Given the description of an element on the screen output the (x, y) to click on. 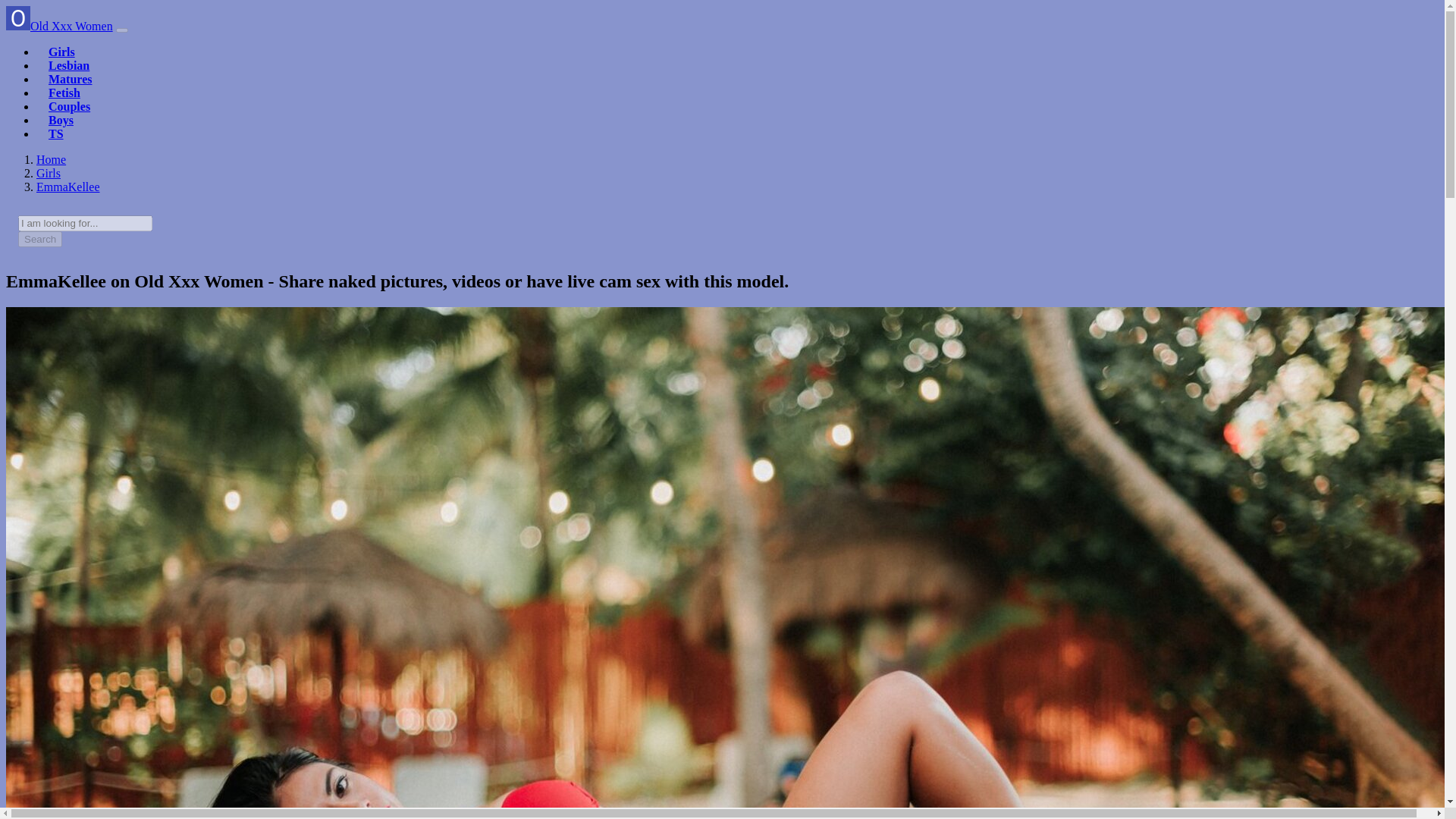
Girls (48, 173)
EmmaKellee (68, 186)
Lesbian (68, 65)
Matures (69, 78)
Old Xxx Women (50, 159)
Matures (69, 78)
Fetish (64, 92)
Old Xxx Women (59, 25)
Fetish (64, 92)
Girls (61, 51)
